Given the description of an element on the screen output the (x, y) to click on. 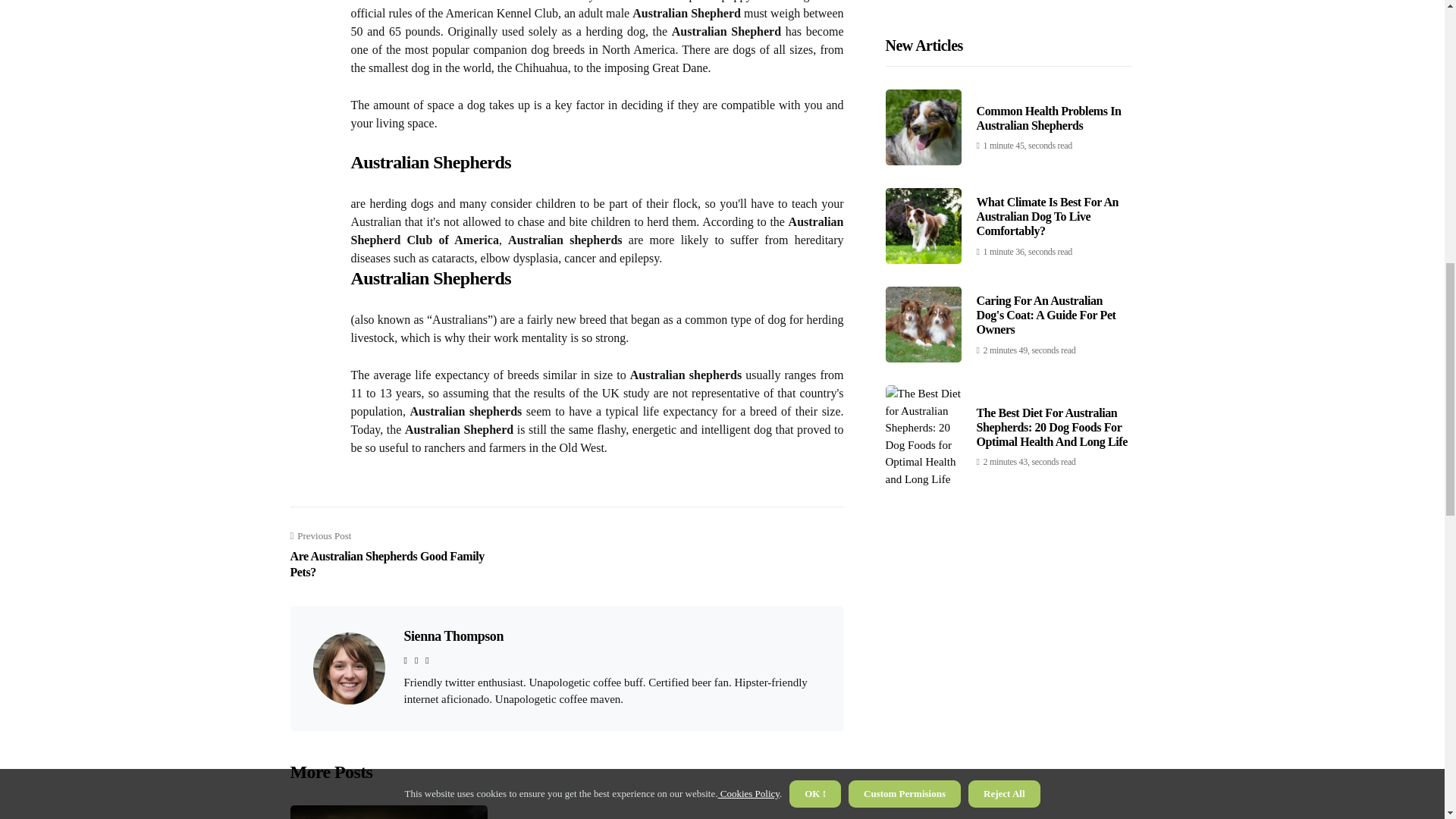
Sienna Thompson (452, 635)
Caring For An Australian Dog'S Coat: A Guide For Pet Owners (400, 554)
